Given the description of an element on the screen output the (x, y) to click on. 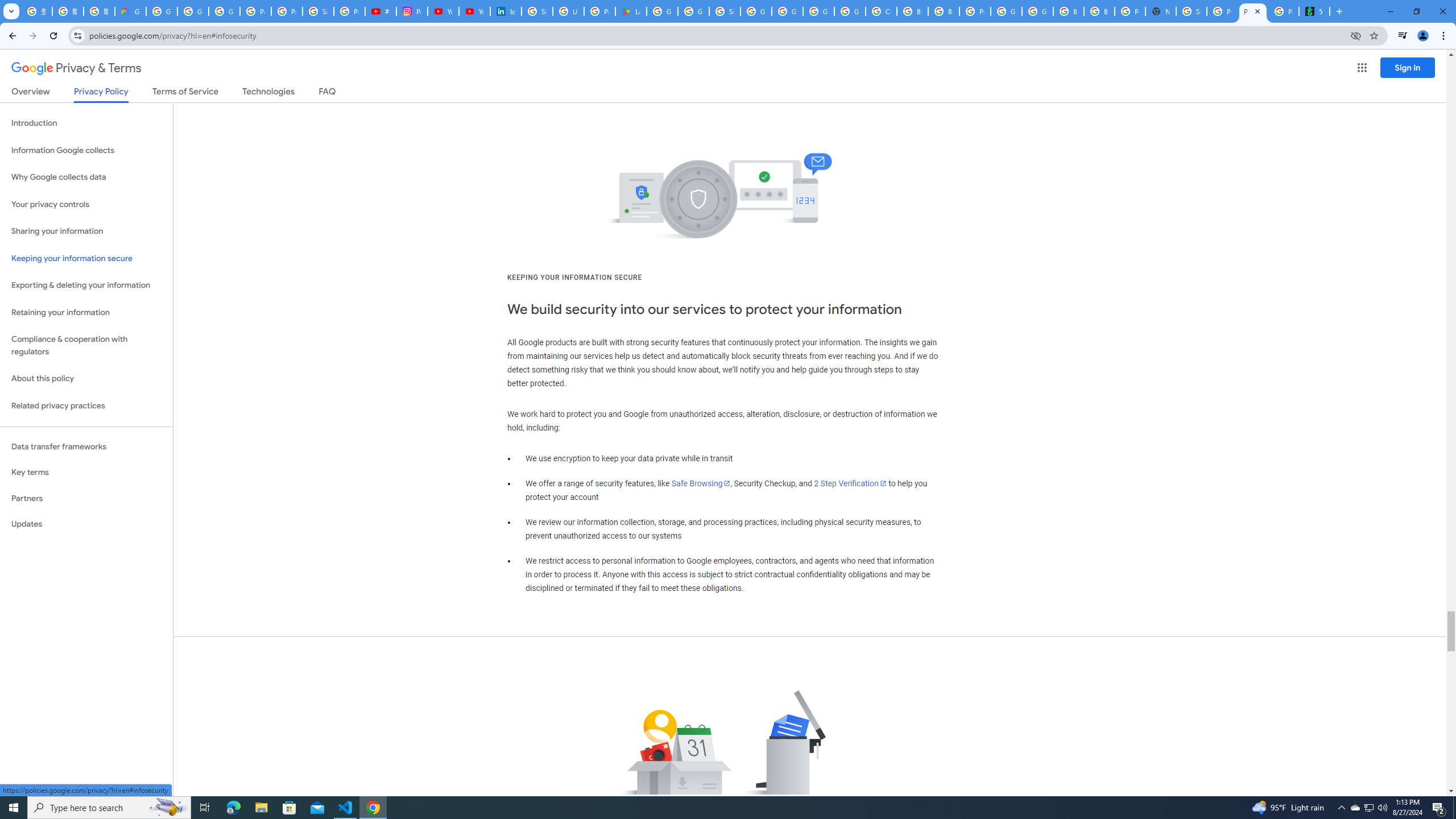
YouTube Culture & Trends - YouTube Top 10, 2021 (474, 11)
